Given the description of an element on the screen output the (x, y) to click on. 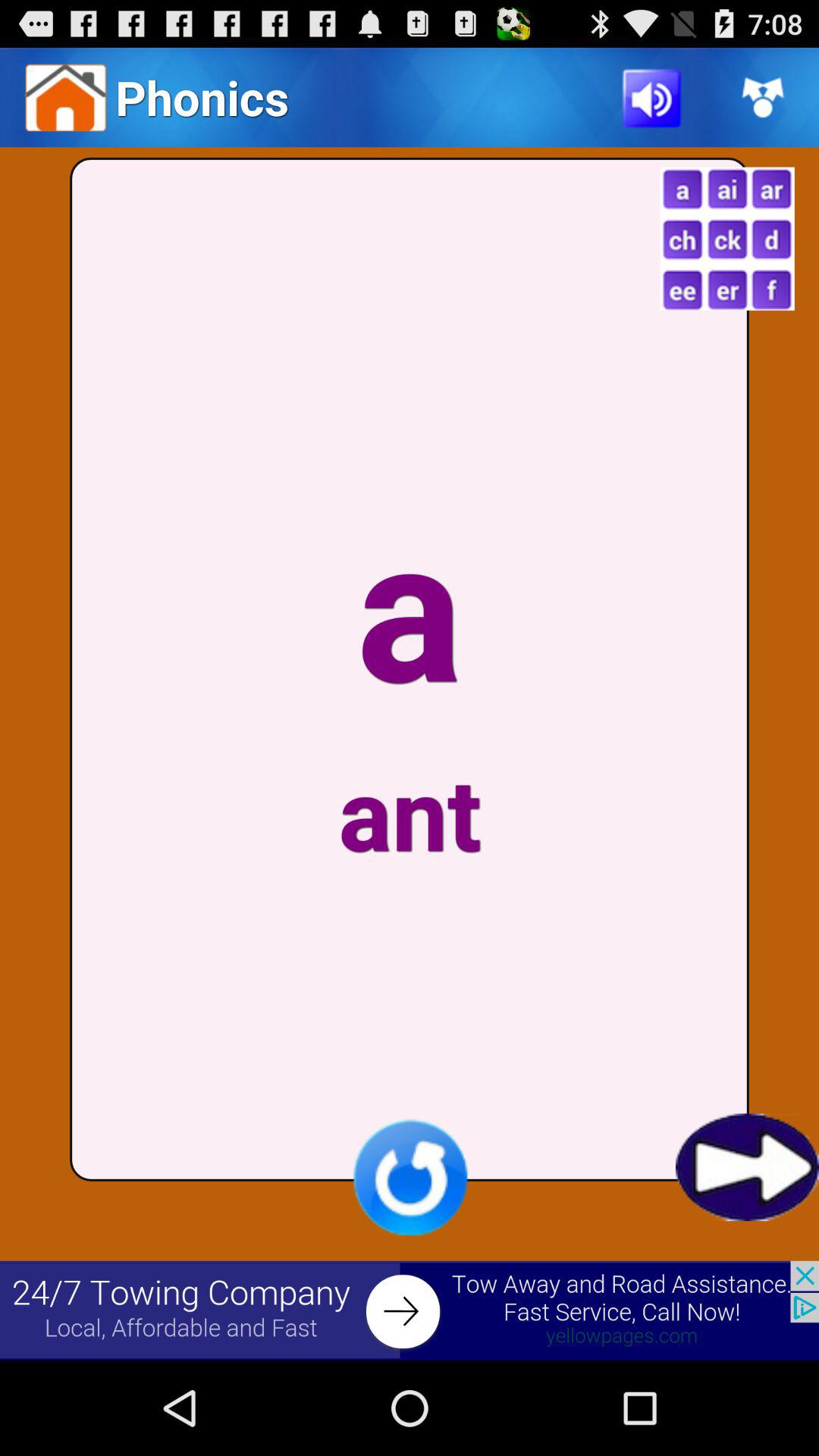
click on the advertisement (409, 1310)
